Given the description of an element on the screen output the (x, y) to click on. 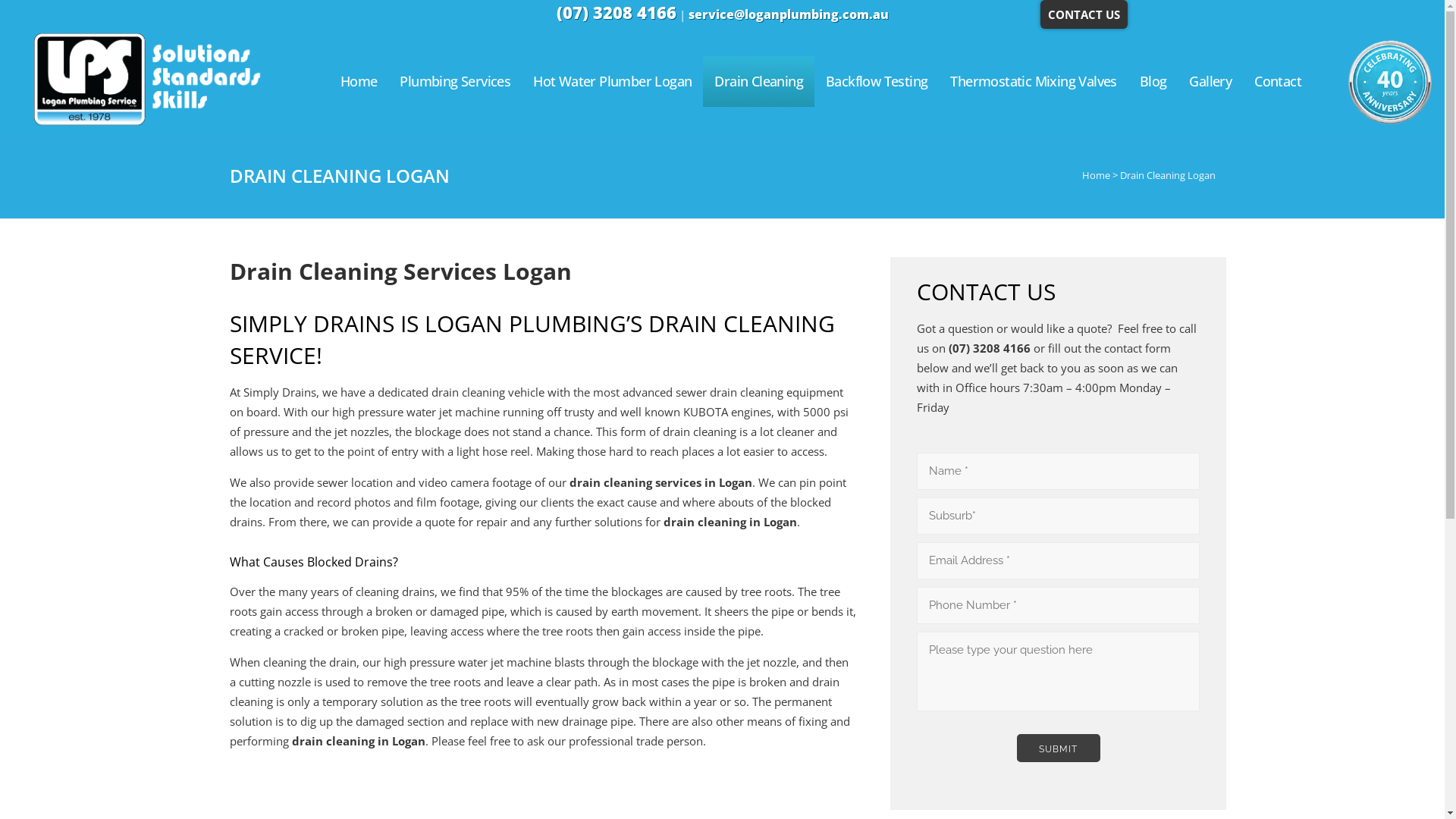
Home Element type: text (1095, 175)
Blog Element type: text (1153, 81)
Hot Water Plumber Logan Element type: text (611, 81)
Thermostatic Mixing Valves Element type: text (1032, 81)
Gallery Element type: text (1209, 81)
Backflow Testing Element type: text (876, 81)
Plumbing Services Element type: text (454, 81)
Contact Element type: text (1277, 81)
SUBMIT Element type: text (1058, 748)
service@loganplumbing.com.au Element type: text (788, 14)
Home Element type: text (359, 81)
Drain Cleaning Element type: text (758, 81)
(07) 3208 4166 Element type: text (616, 11)
